Given the description of an element on the screen output the (x, y) to click on. 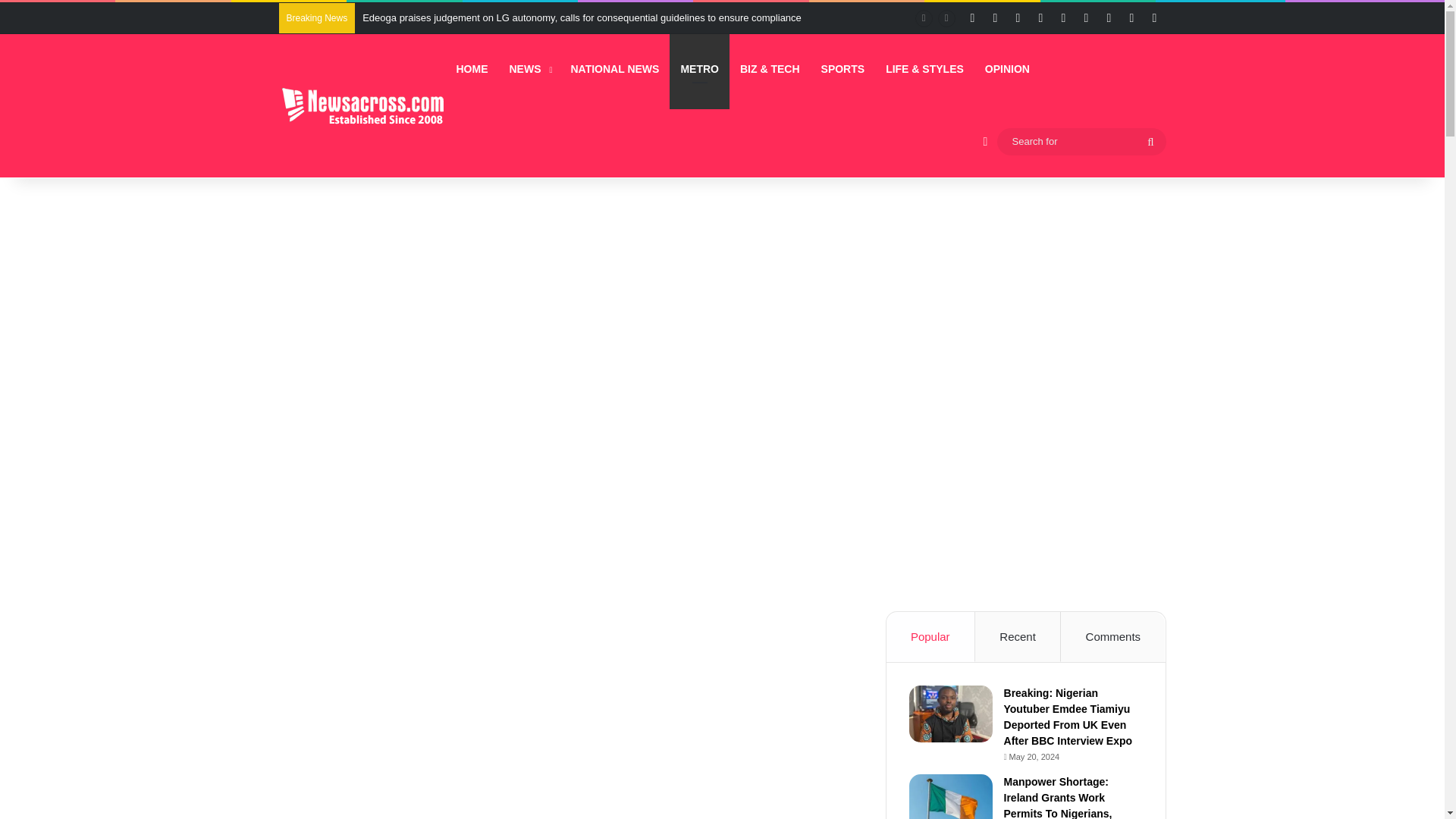
Advertisement (575, 714)
NATIONAL NEWS (614, 69)
Search for (1150, 140)
Newsacross.com (362, 105)
OPINION (1007, 69)
SPORTS (843, 69)
Search for (1080, 140)
